Given the description of an element on the screen output the (x, y) to click on. 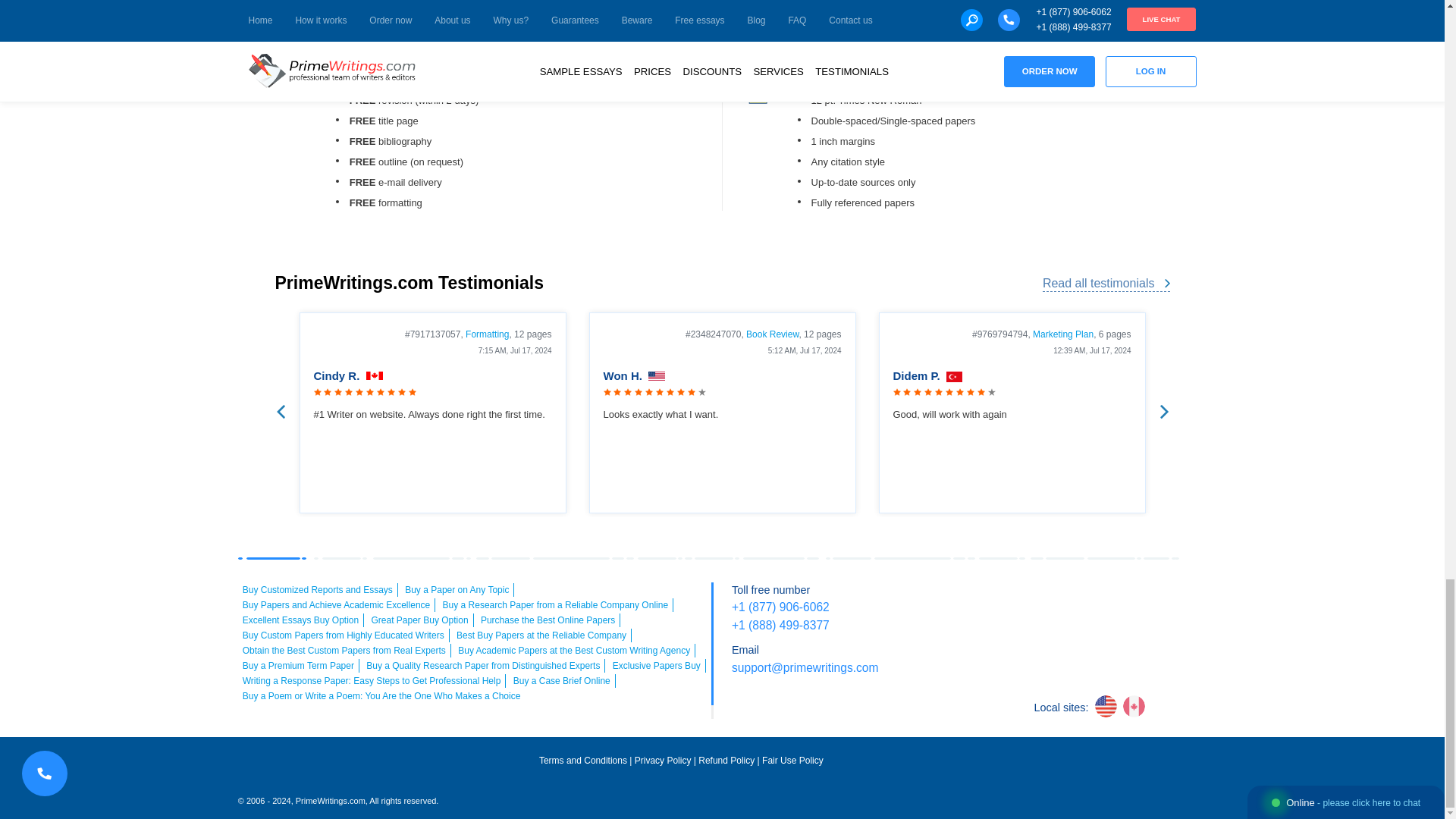
Credit cards by American Express (1091, 599)
Canada (374, 376)
Credit and debit cards by MasterCard (1048, 599)
Credit cards by JCB (1112, 629)
Turkey (954, 376)
Credit and debit cards by Visa (1005, 599)
Credit cards by Discover (1176, 599)
Credit cards by Diners Club (1069, 629)
USA (656, 376)
Apple pay (1133, 599)
